Given the description of an element on the screen output the (x, y) to click on. 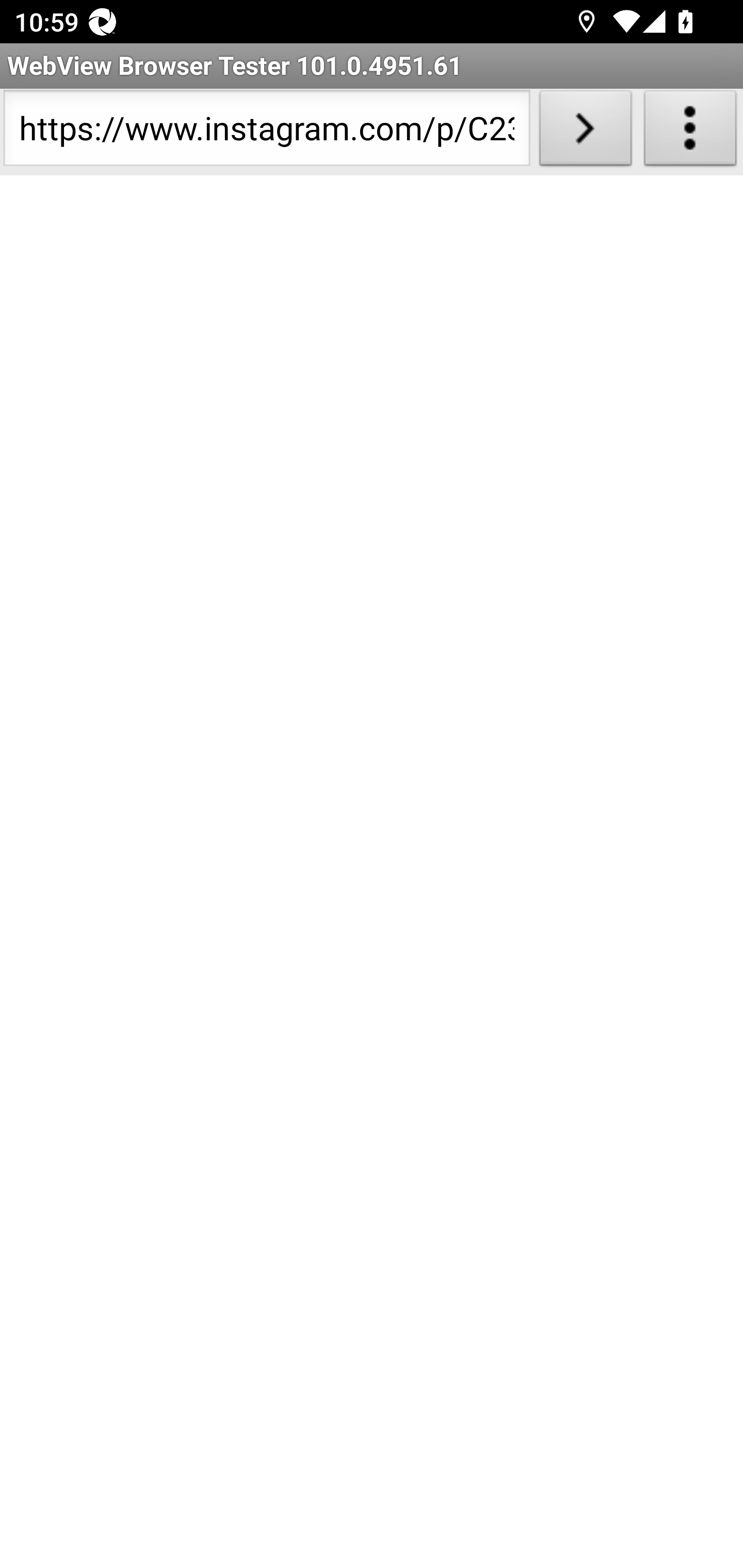
Load URL (585, 132)
About WebView (690, 132)
